Given the description of an element on the screen output the (x, y) to click on. 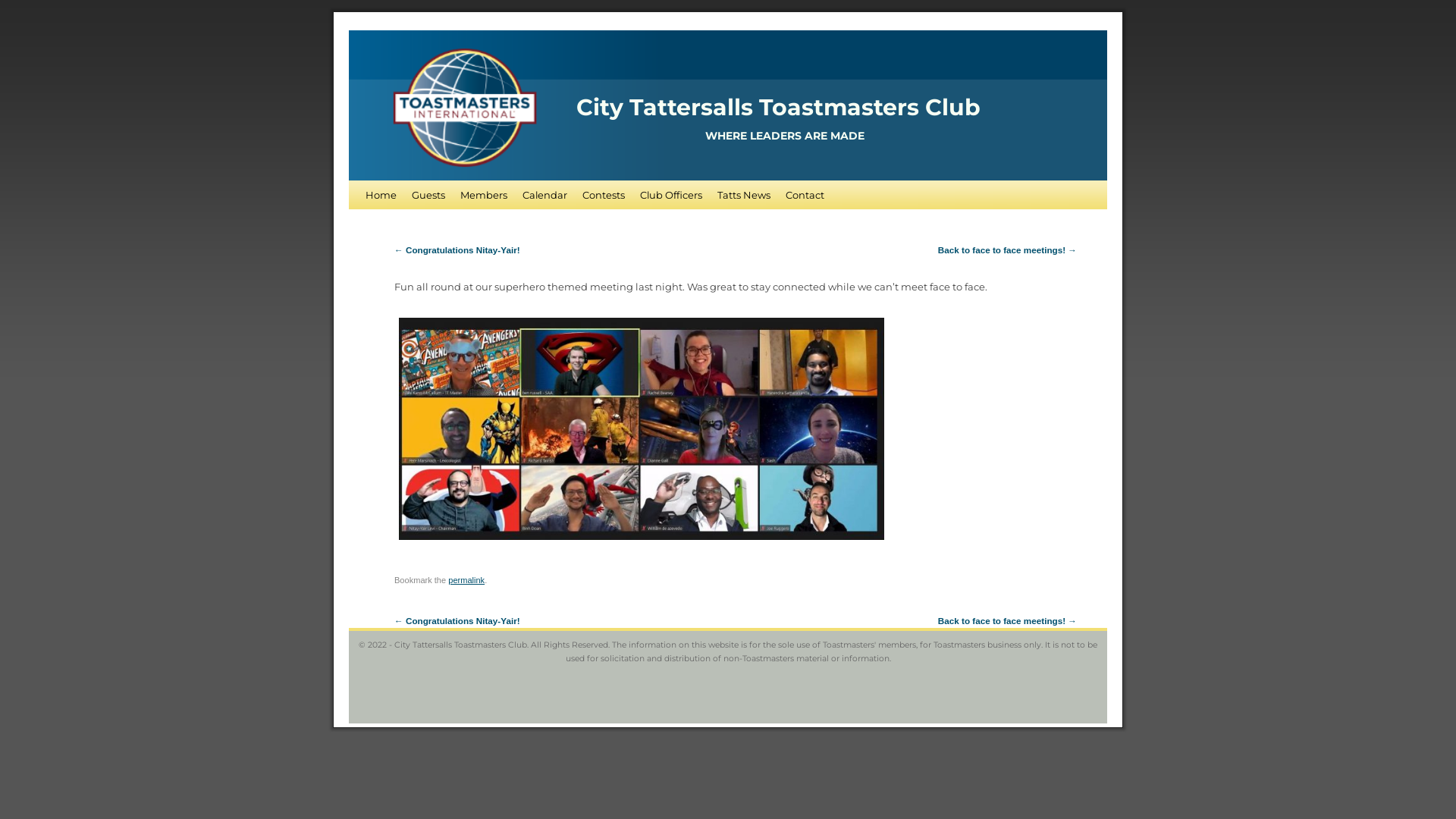
Contests Element type: text (603, 194)
Home Element type: text (380, 194)
Members Element type: text (483, 194)
Calendar Element type: text (544, 194)
Club Officers Element type: text (670, 194)
Guests Element type: text (428, 194)
Contact Element type: text (804, 194)
Tatts News Element type: text (743, 194)
City Tattersalls Toastmasters Club Element type: text (778, 107)
permalink Element type: text (466, 579)
City Tattersalls Toastmasters Club Element type: hover (727, 105)
